Given the description of an element on the screen output the (x, y) to click on. 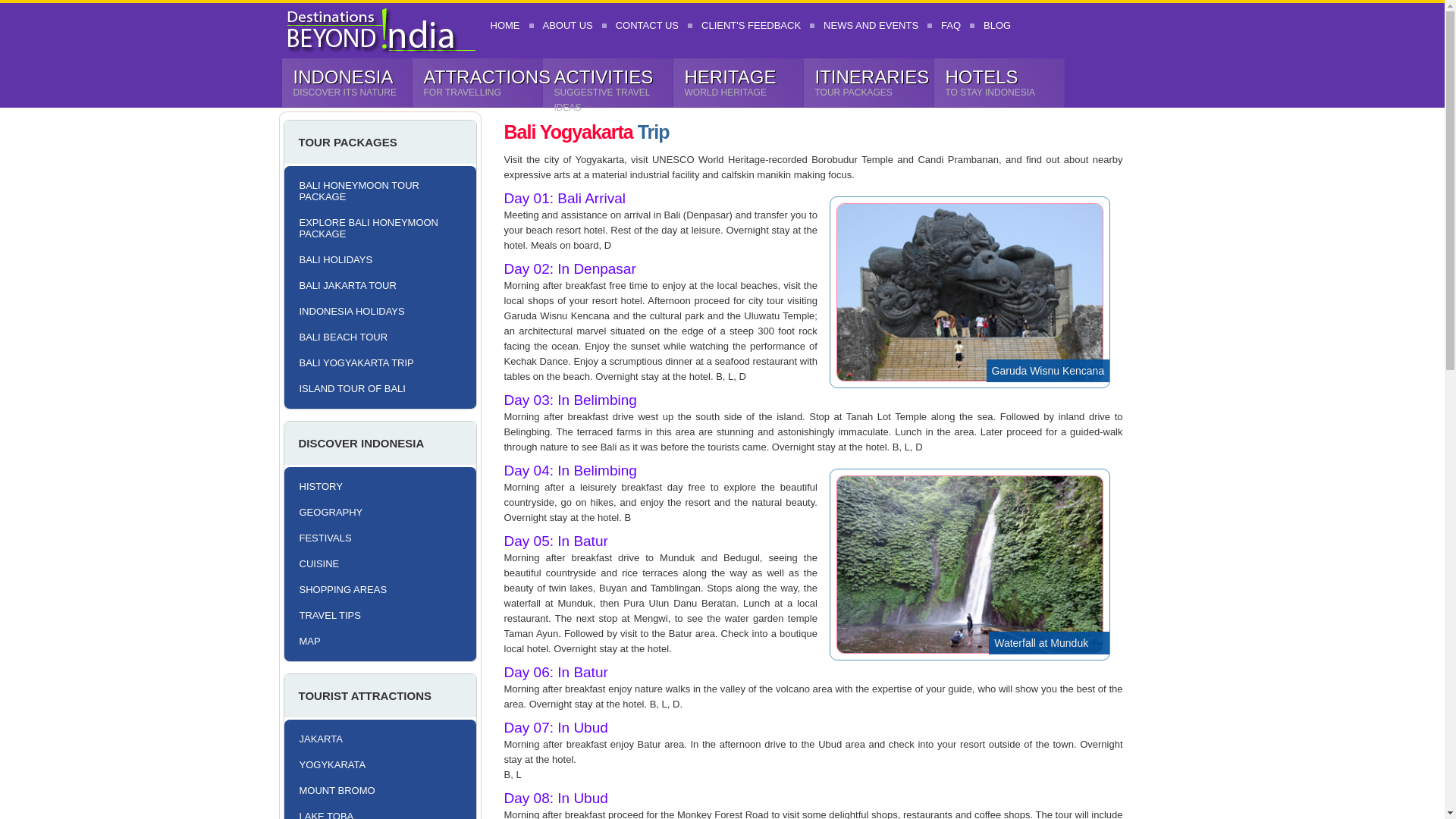
CONTACT US (647, 25)
SHOPPING AREAS (375, 589)
NEWS AND EVENTS (871, 25)
BALI YOGYAKARTA TRIP (375, 362)
BALI HOLIDAYS (375, 259)
BLOG (997, 25)
BALI BEACH TOUR (375, 336)
ABOUT US (567, 25)
HISTORY (375, 486)
MAP (375, 640)
